Given the description of an element on the screen output the (x, y) to click on. 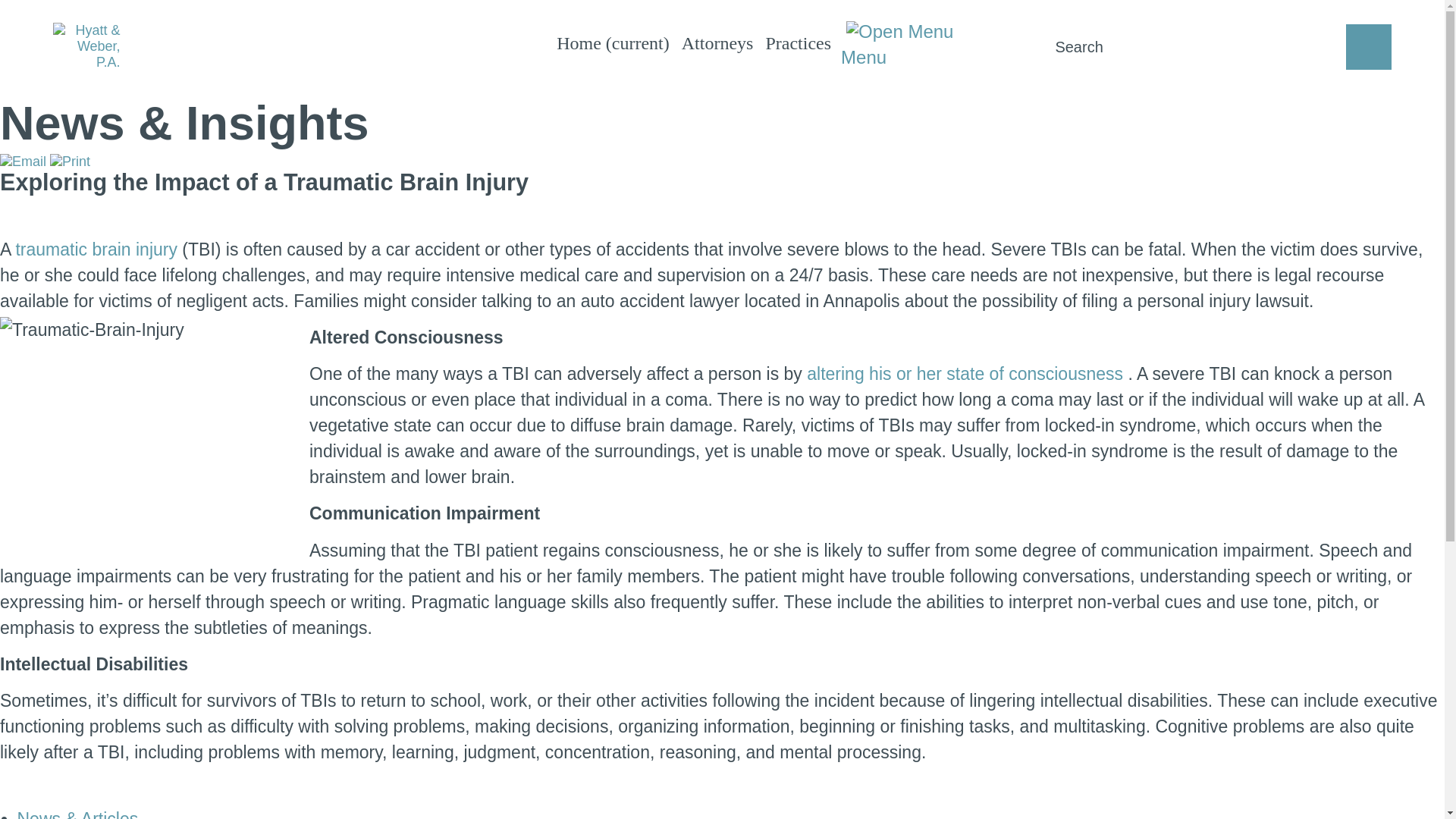
Practices (798, 43)
Attorneys (717, 43)
traumatic brain injury (98, 249)
altering his or her state of consciousness (966, 373)
